Given the description of an element on the screen output the (x, y) to click on. 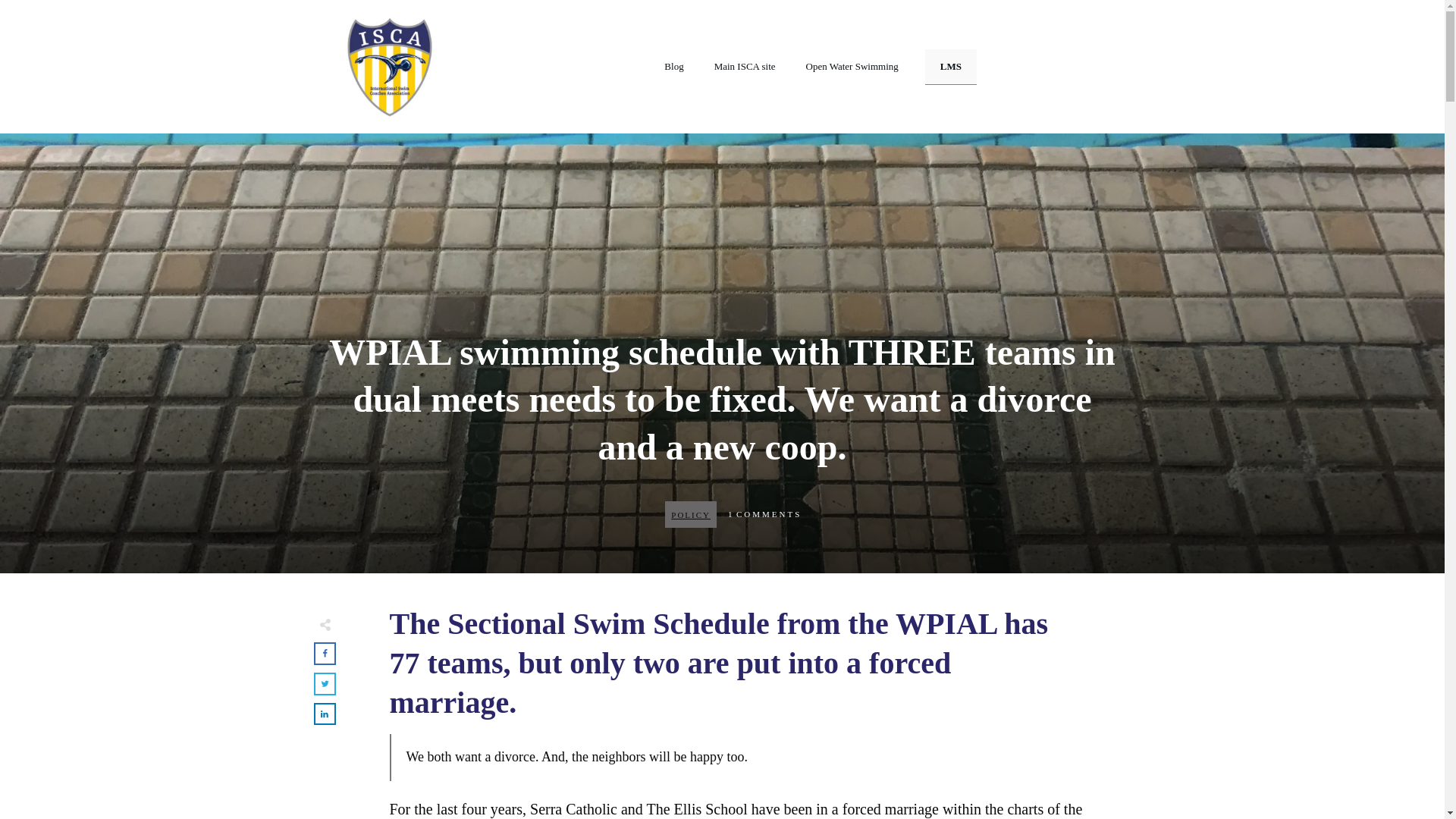
Policy (690, 514)
Main ISCA site (745, 66)
Open Water Swimming (852, 66)
POLICY (690, 514)
LMS (950, 66)
Blog (672, 66)
